Given the description of an element on the screen output the (x, y) to click on. 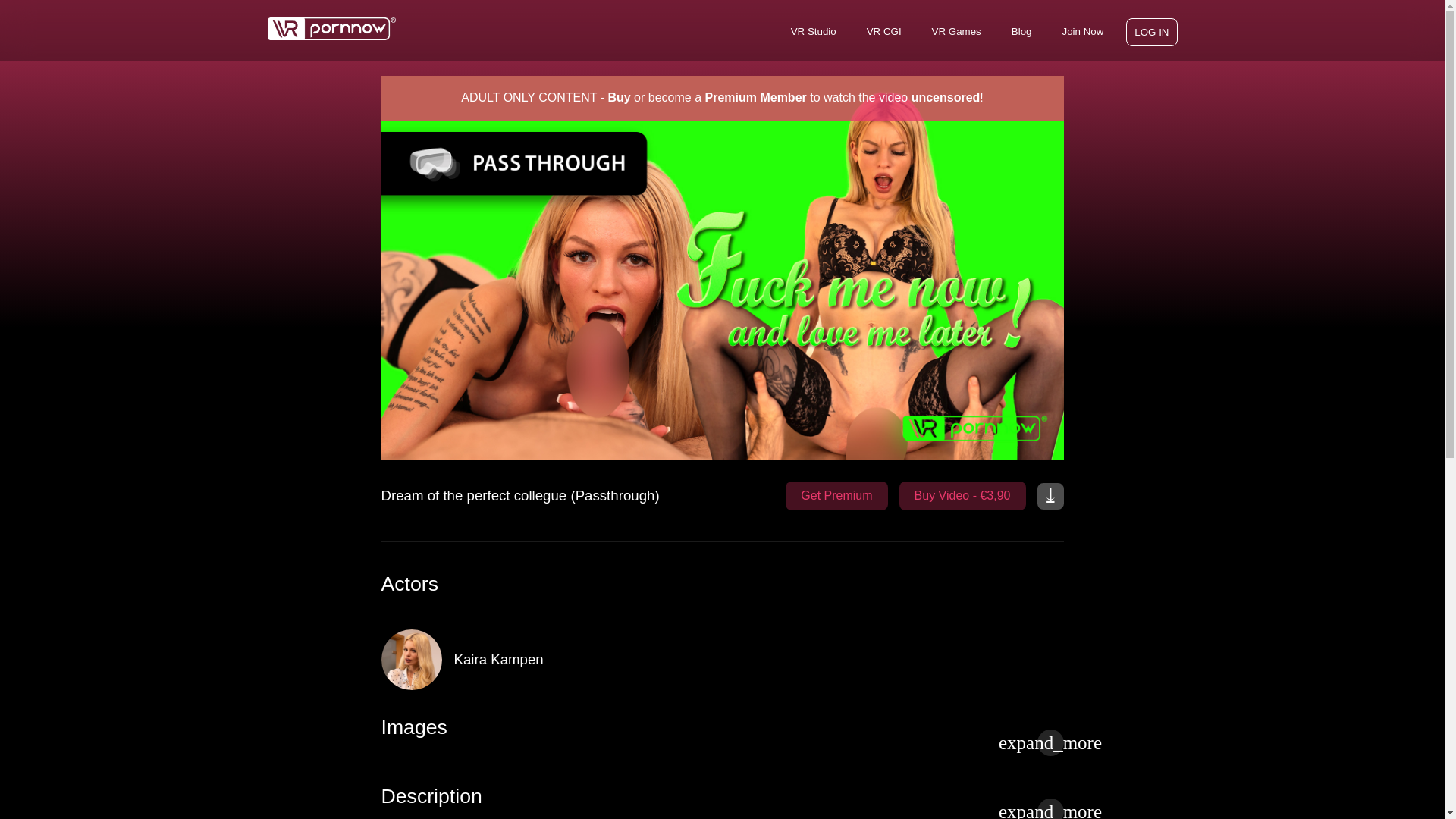
Blog (1021, 31)
Join Now (1082, 31)
LOG IN (1150, 31)
Get Premium (836, 495)
Buy (618, 97)
VR CGI (883, 31)
Premium Member (755, 97)
VR Studio (813, 31)
VR Games (956, 31)
Kaira Kampen (482, 659)
